Given the description of an element on the screen output the (x, y) to click on. 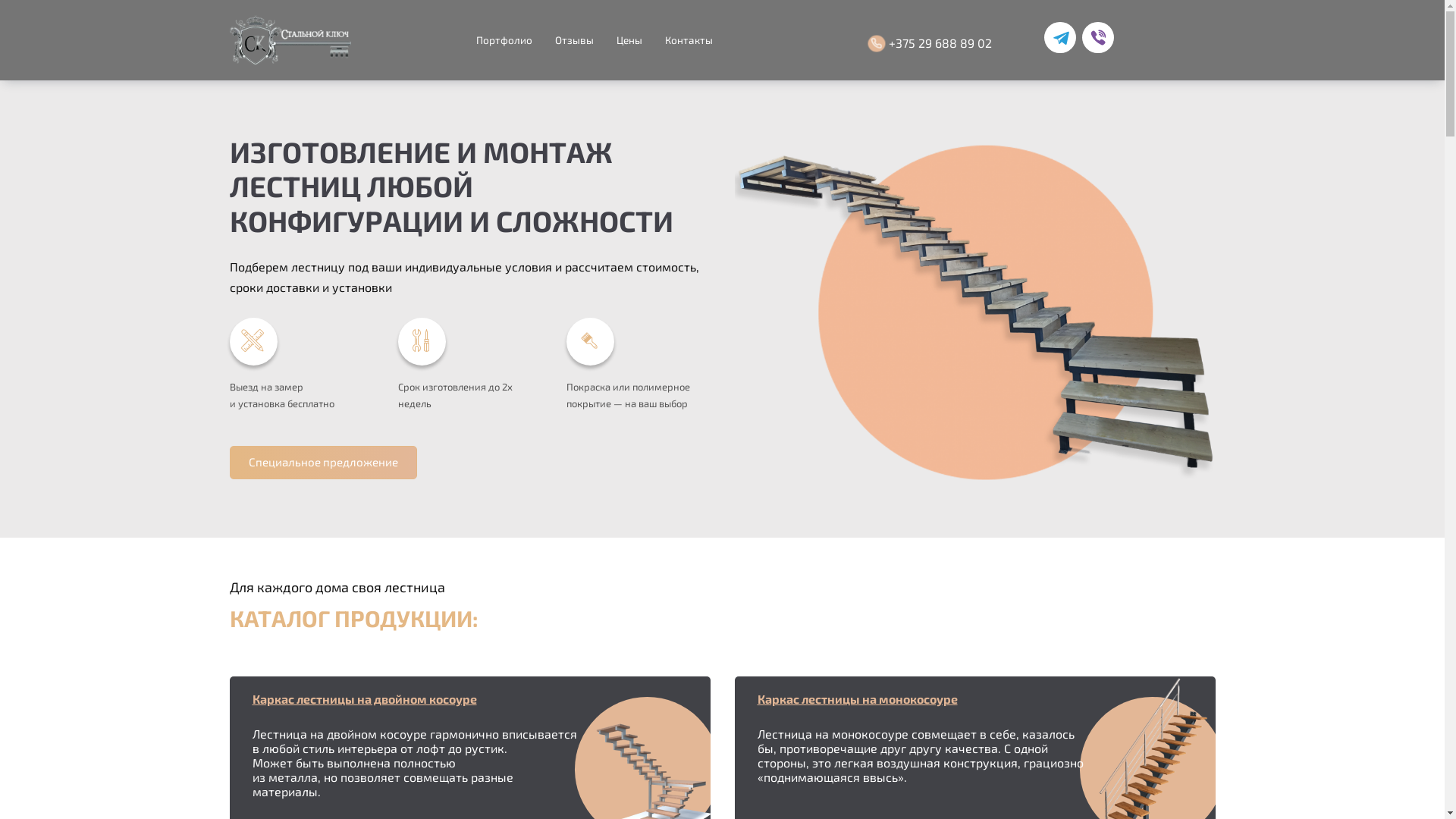
+375 29 688 89 02 Element type: text (931, 43)
